Given the description of an element on the screen output the (x, y) to click on. 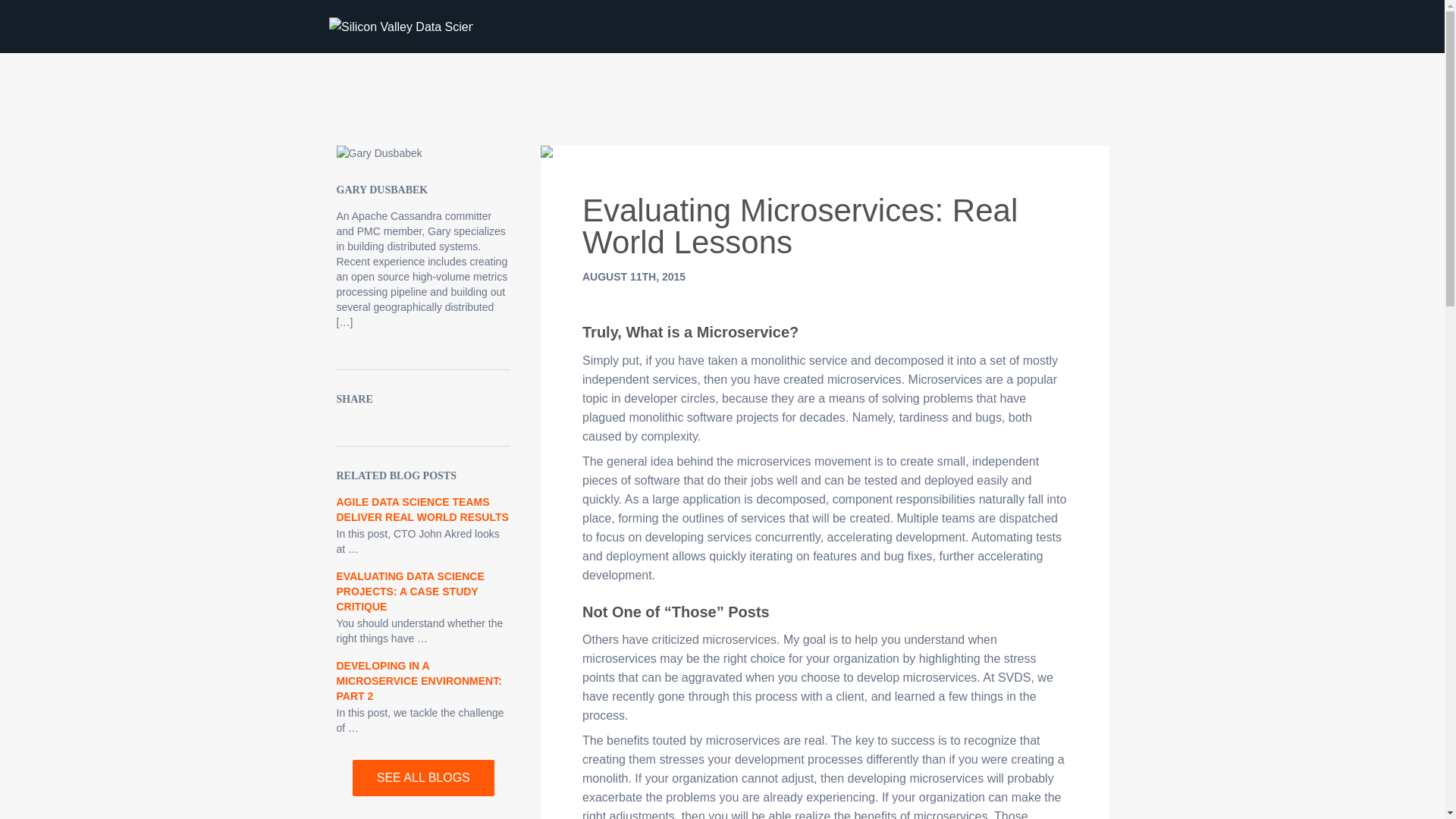
DEVELOPING IN A MICROSERVICE ENVIRONMENT: PART 2 (419, 680)
GARY DUSBABEK (382, 189)
AGILE DATA SCIENCE TEAMS DELIVER REAL WORLD RESULTS (422, 509)
SEARCH (1097, 30)
EVALUATING DATA SCIENCE PROJECTS: A CASE STUDY CRITIQUE (410, 591)
SEE ALL BLOGS (423, 778)
